Given the description of an element on the screen output the (x, y) to click on. 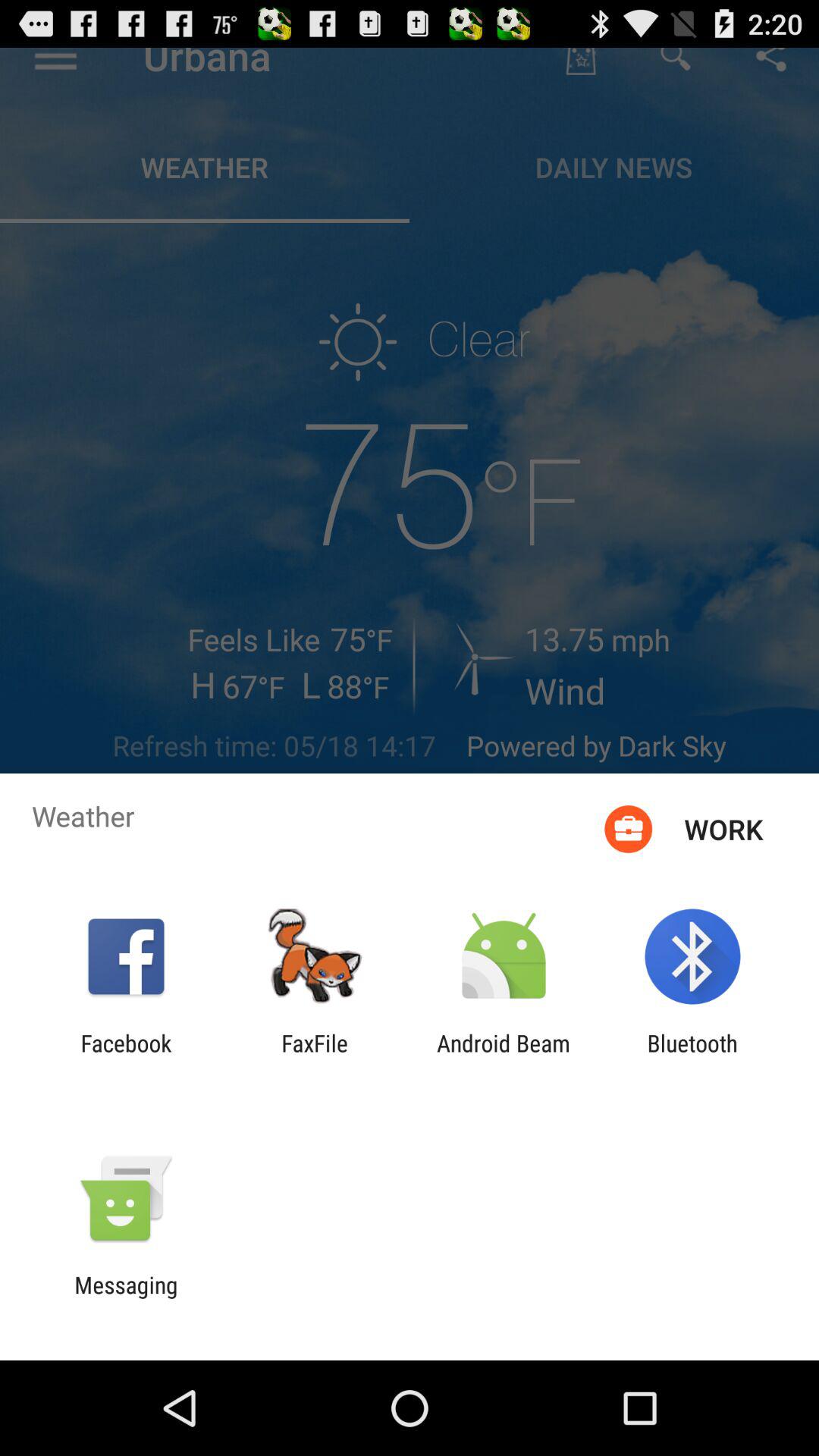
turn on the item next to facebook item (314, 1056)
